Given the description of an element on the screen output the (x, y) to click on. 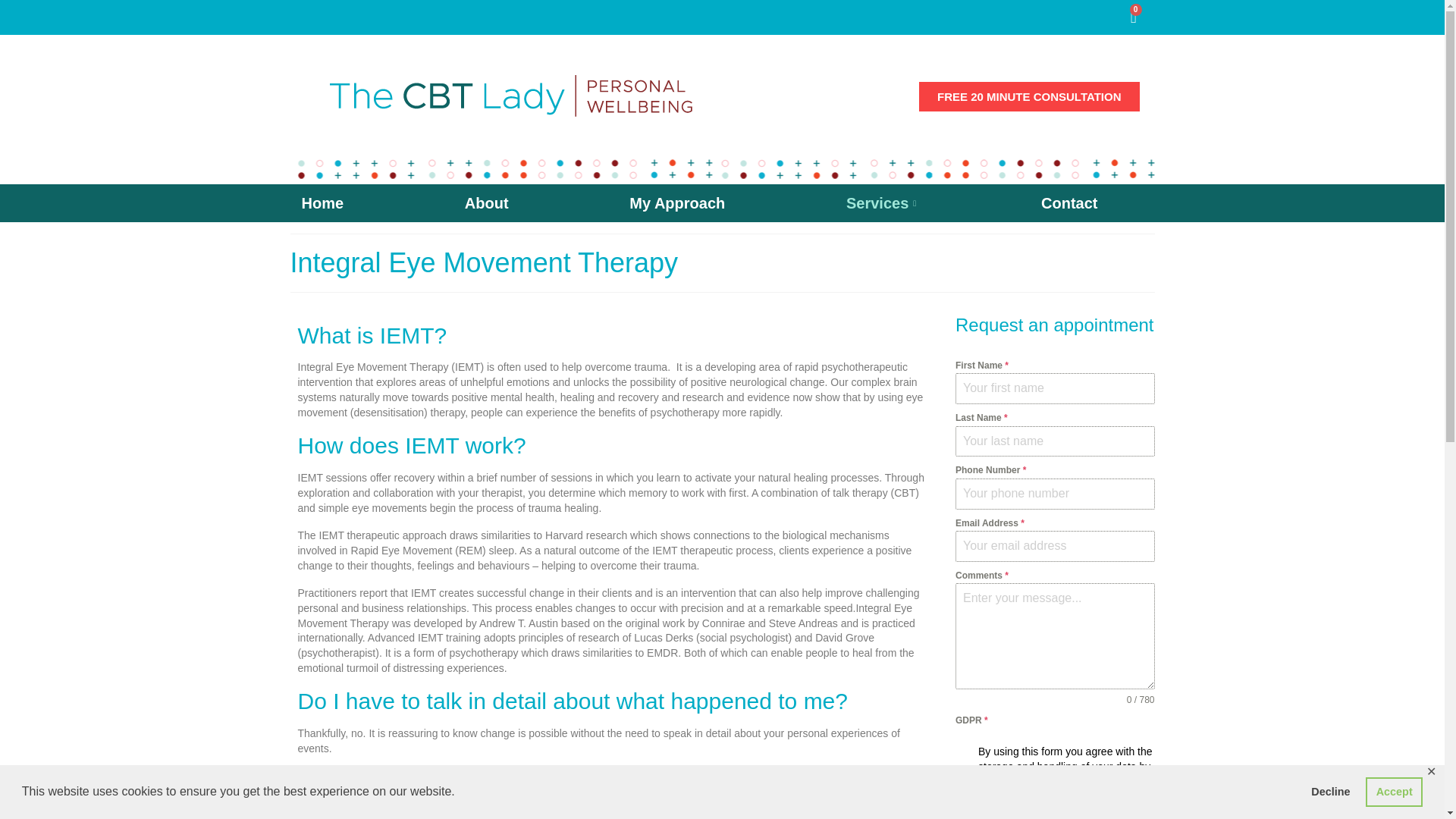
FREE 20 MINUTE CONSULTATION (1029, 96)
Submit (992, 814)
Home (322, 202)
Contact (1068, 202)
About (485, 202)
Decline (1330, 791)
My Approach (676, 202)
Accept (1393, 791)
Services (882, 202)
